Given the description of an element on the screen output the (x, y) to click on. 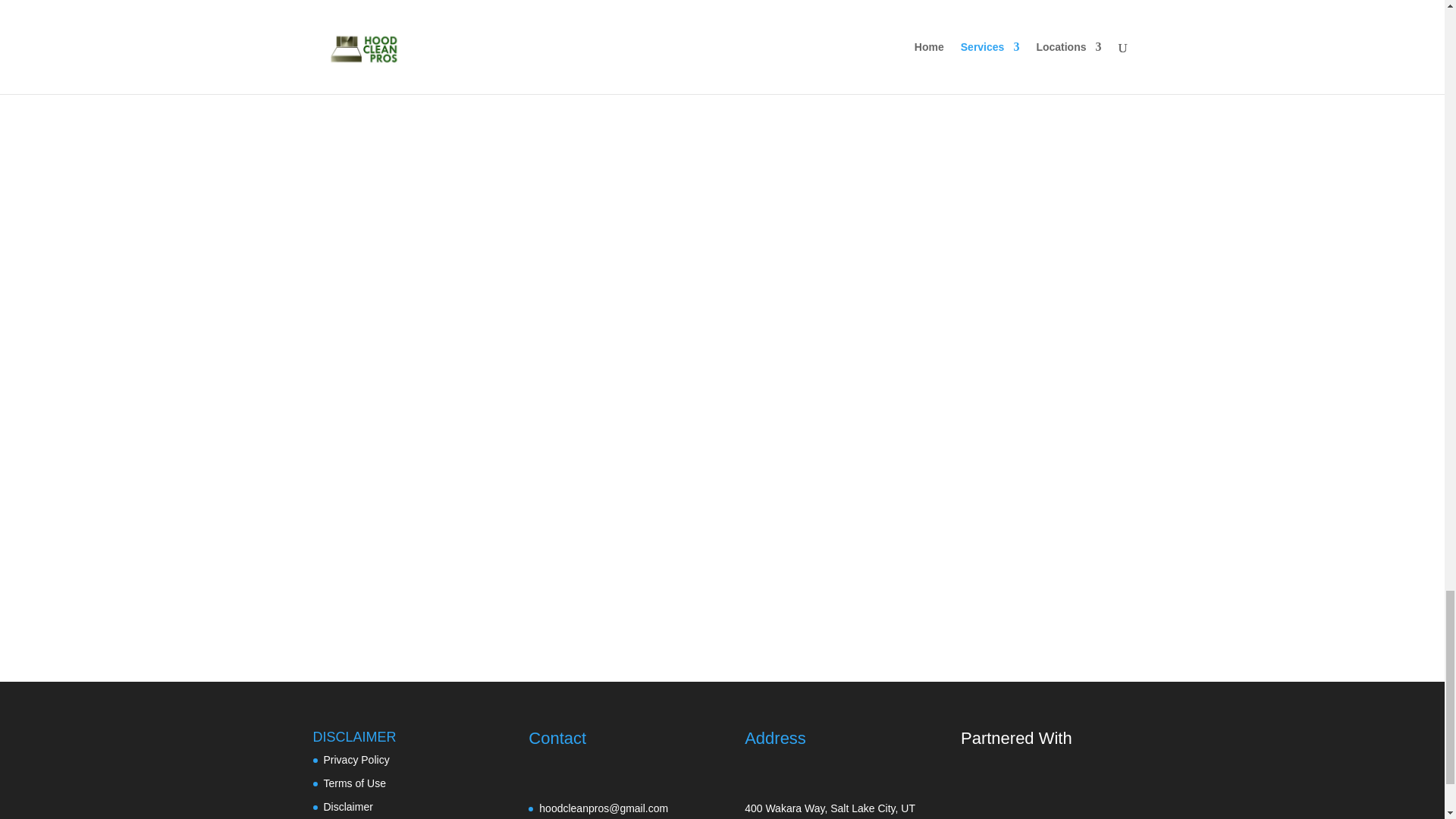
Privacy Policy (355, 759)
wpforms-submit (432, 587)
Disclaimer (347, 806)
Terms of Use (354, 783)
